Given the description of an element on the screen output the (x, y) to click on. 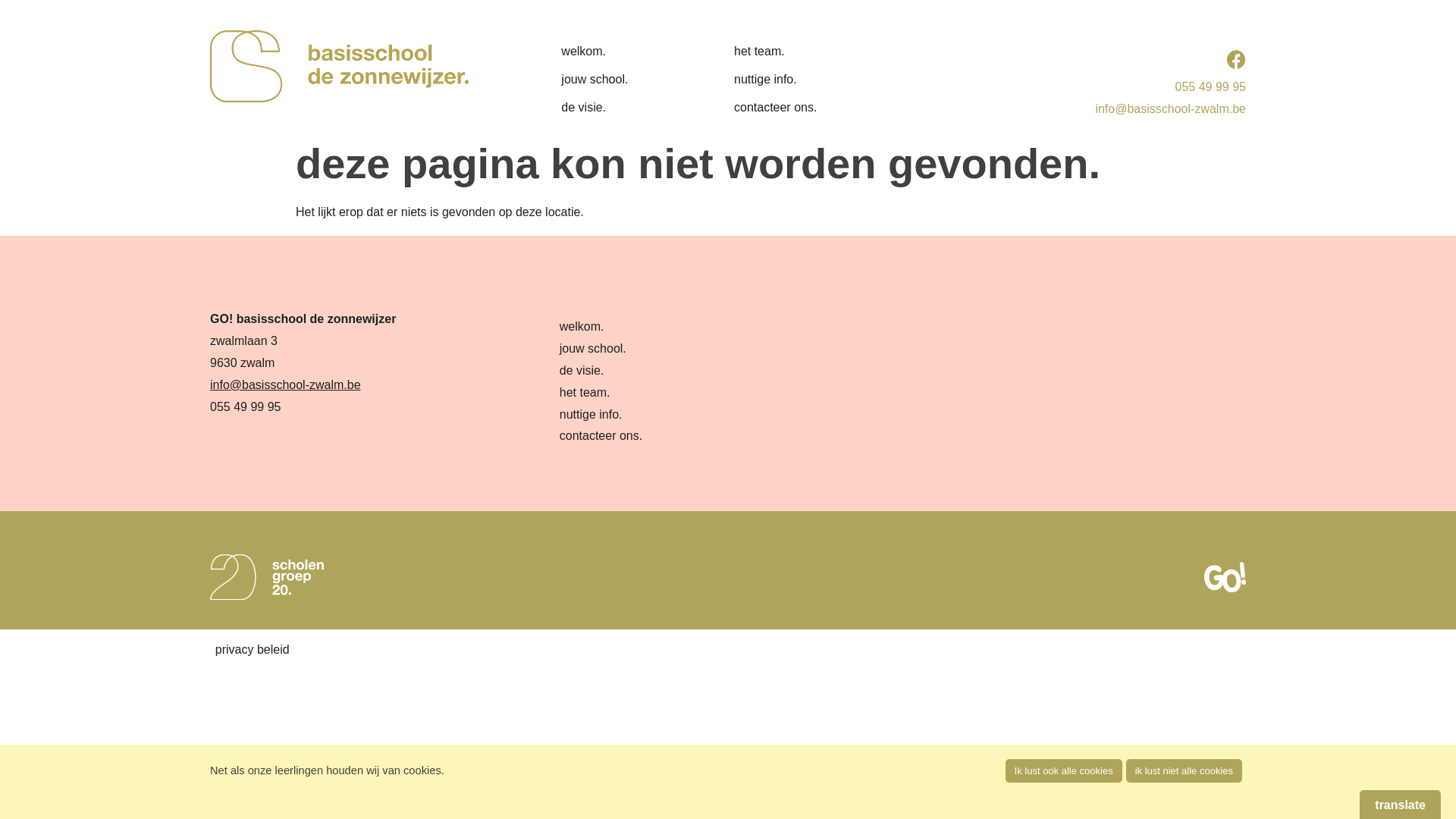
logo-sgr20-white-outline Element type: hover (266, 576)
het team. Element type: text (584, 391)
welkom. Element type: text (581, 326)
welkom. Element type: text (611, 51)
jouw school. Element type: text (592, 348)
privacy beleid Element type: text (252, 649)
het team. Element type: text (784, 51)
nuttige info. Element type: text (784, 79)
Ik lust ook alle cookies Element type: text (1063, 770)
de visie. Element type: text (611, 107)
de visie. Element type: text (581, 370)
info@basisschool-zwalm.be Element type: text (285, 384)
contacteer ons. Element type: text (600, 435)
logo-GO-wit Element type: hover (1224, 576)
jouw school. Element type: text (611, 79)
ik lust niet alle cookies Element type: text (1184, 770)
nuttige info. Element type: text (590, 413)
055 49 99 95 Element type: text (1210, 86)
contacteer ons. Element type: text (784, 107)
info@basisschool-zwalm.be Element type: text (1170, 108)
